Given the description of an element on the screen output the (x, y) to click on. 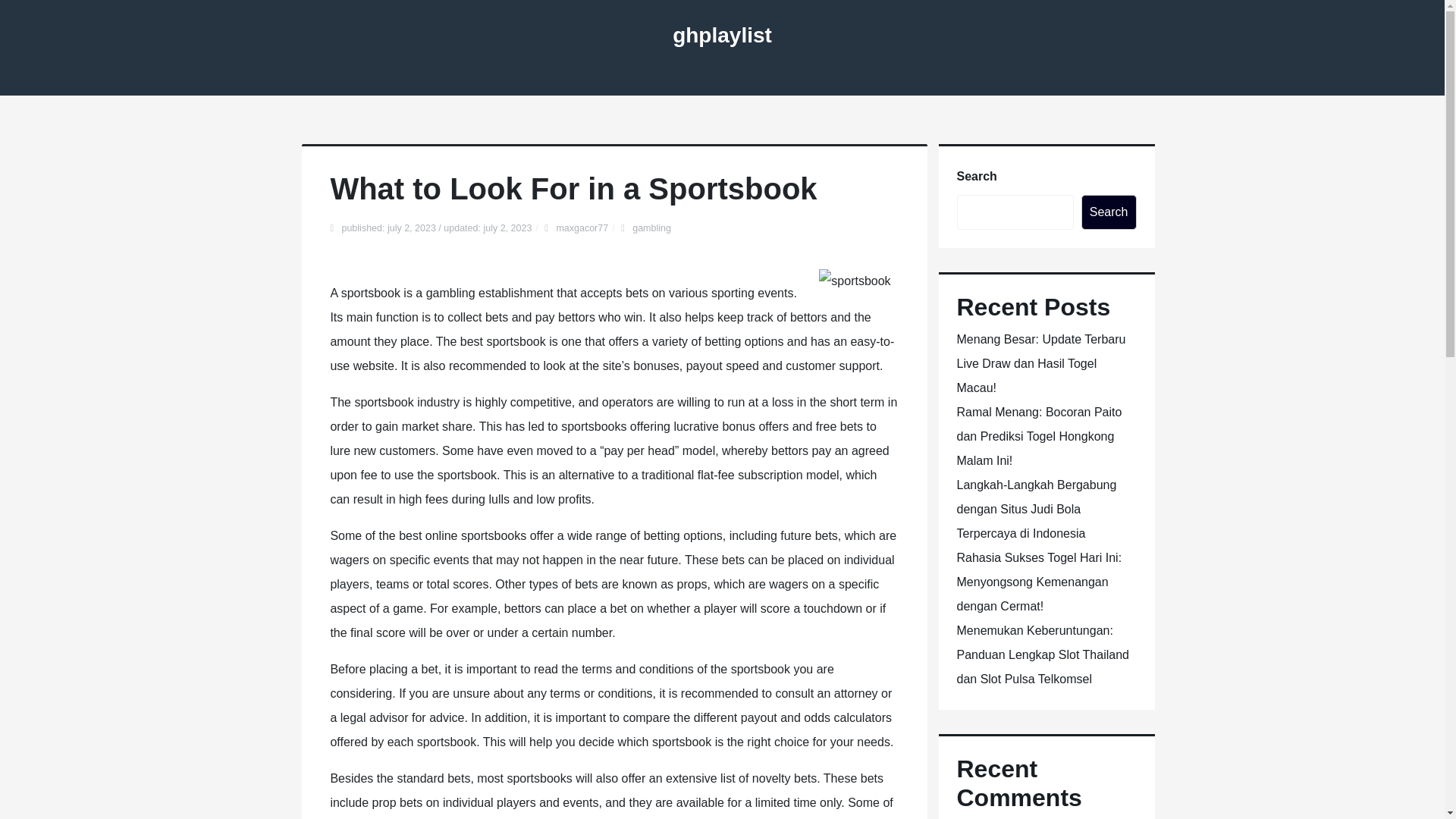
gambling (651, 227)
ghplaylist (721, 34)
Search (1109, 212)
maxgacor77 (582, 227)
